Given the description of an element on the screen output the (x, y) to click on. 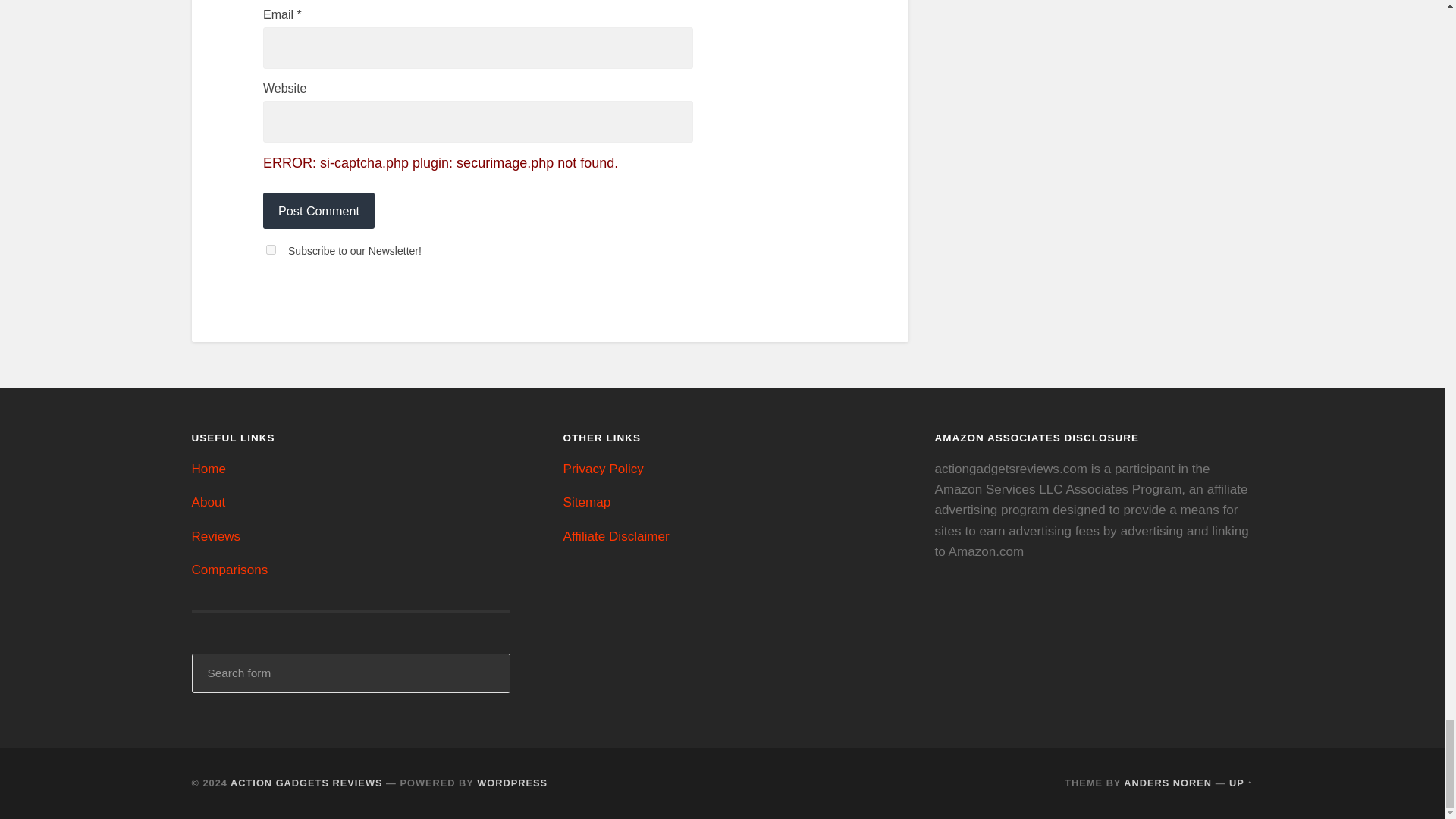
Search (488, 673)
Post Comment (318, 210)
1 (271, 249)
Search (488, 673)
